Given the description of an element on the screen output the (x, y) to click on. 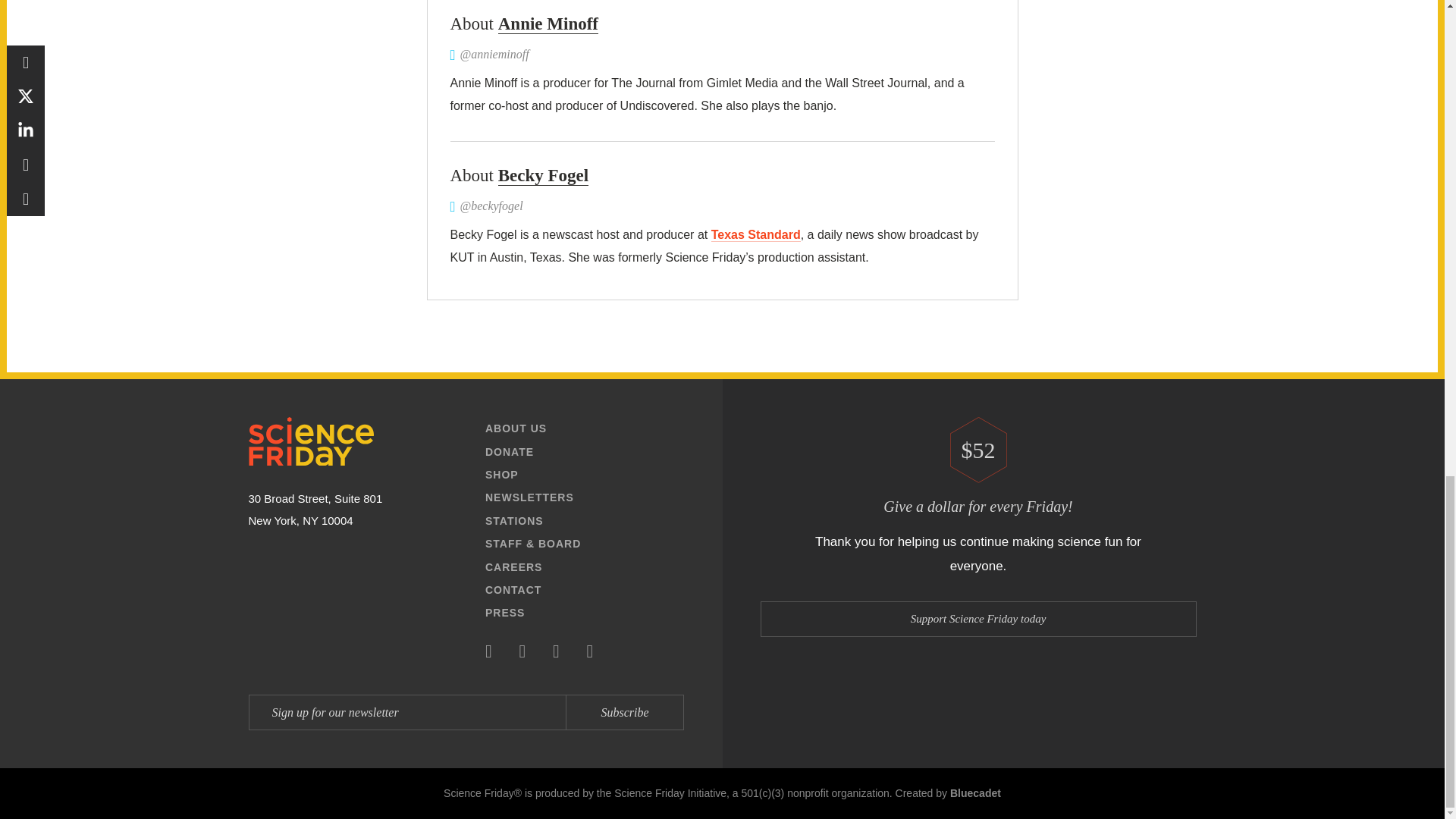
Subscribe (624, 712)
